Given the description of an element on the screen output the (x, y) to click on. 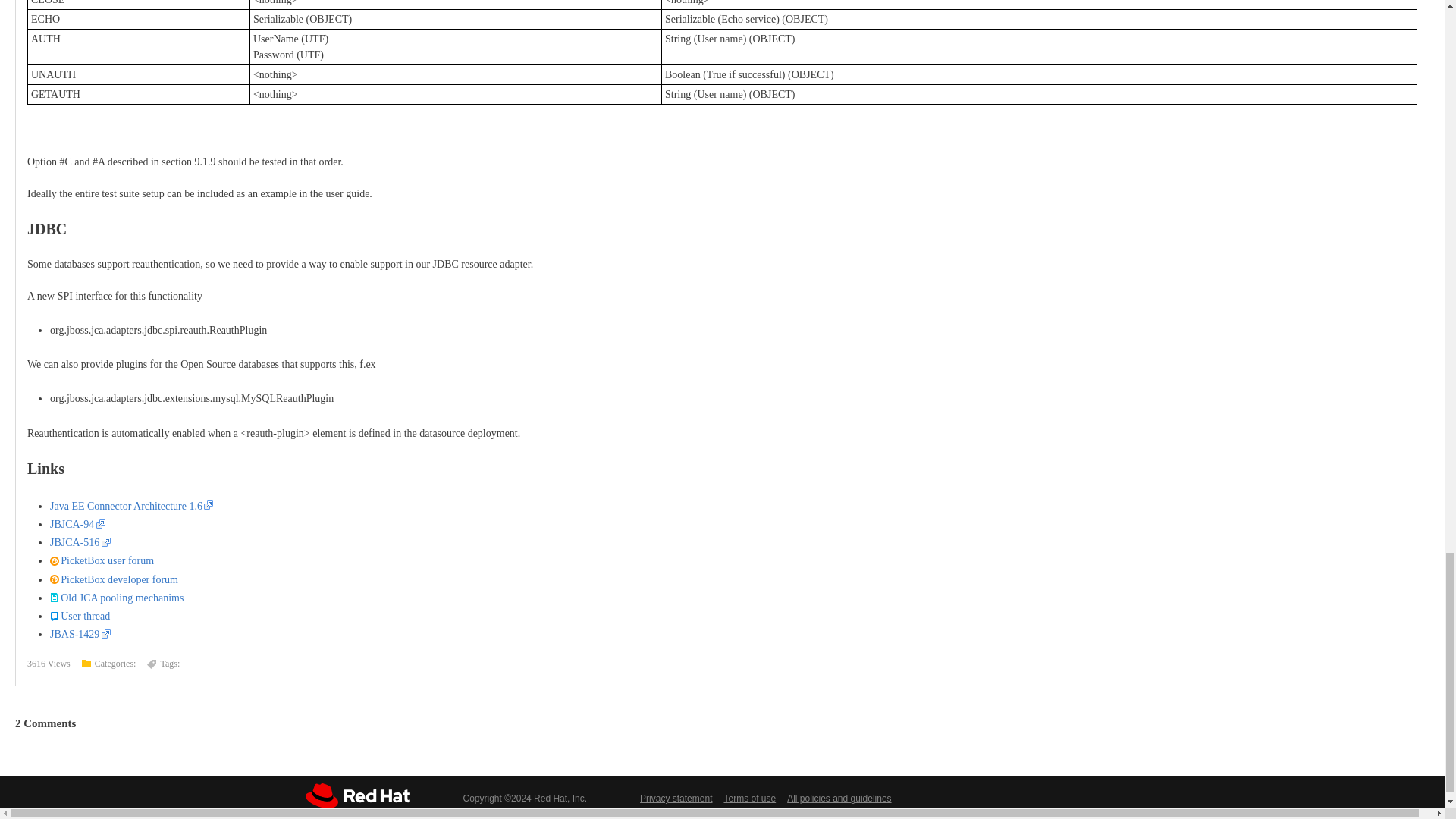
Terms of use (749, 798)
PicketBox developer forum (113, 579)
JBJCA-94 (76, 523)
Old JCA pooling mechanims (116, 597)
2 Comments (44, 723)
JBJCA-516 (79, 542)
Privacy statement (675, 798)
JBAS-1429 (79, 633)
User thread (79, 615)
Red Hat (356, 795)
PicketBox user forum (101, 560)
Java EE Connector Architecture 1.6 (130, 505)
All policies and guidelines (839, 798)
